Given the description of an element on the screen output the (x, y) to click on. 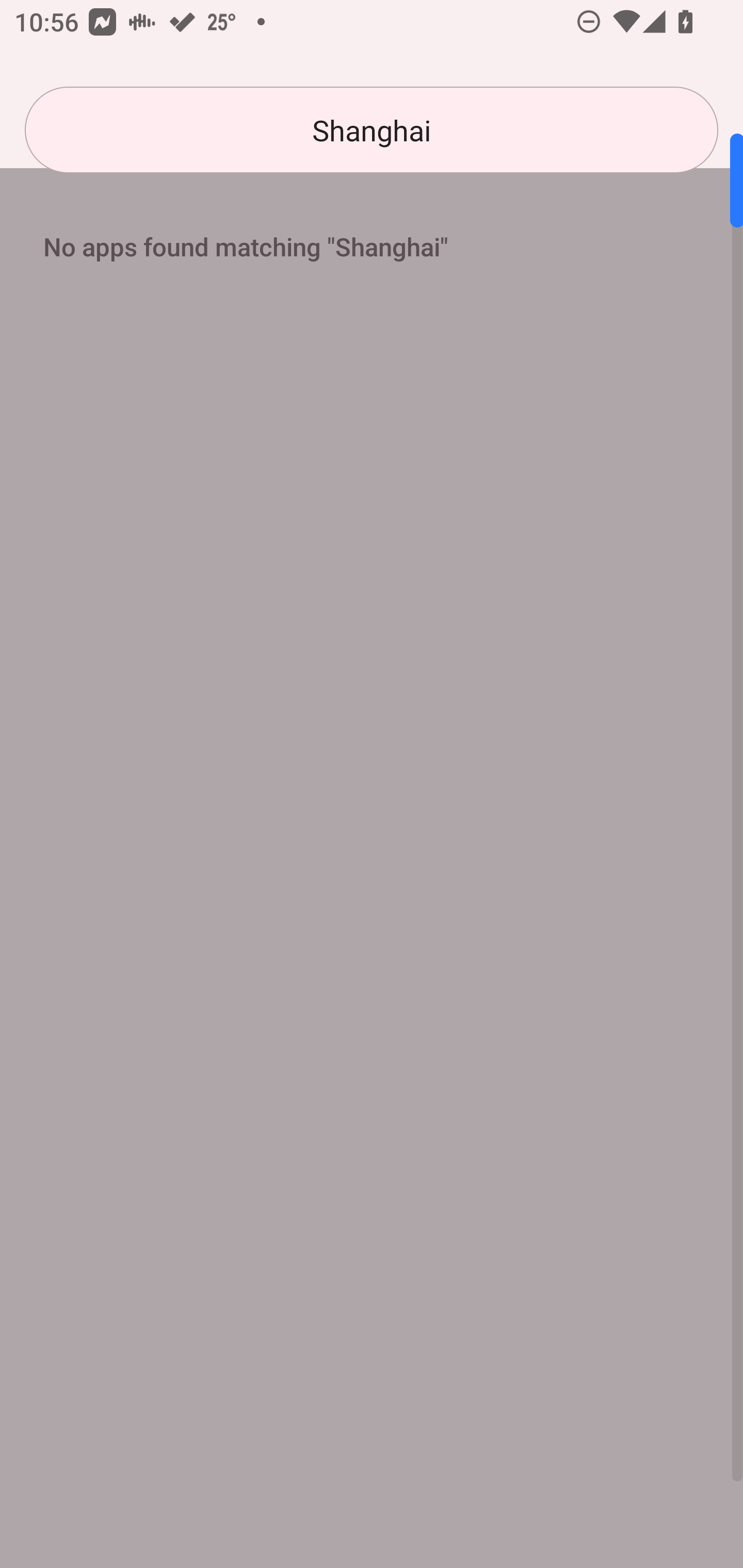
Shanghai (371, 130)
